Given the description of an element on the screen output the (x, y) to click on. 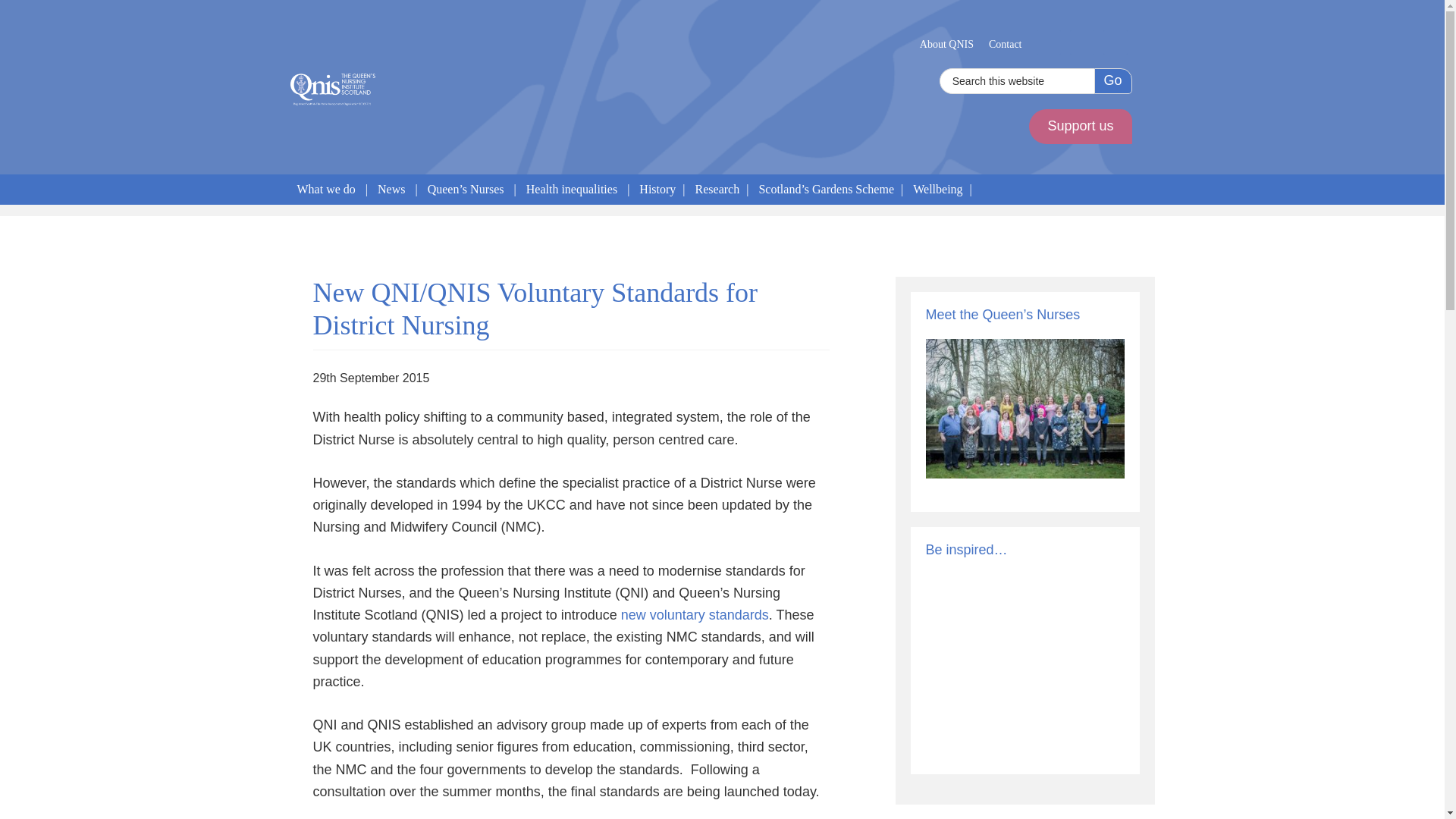
Contact (1004, 44)
YouTube (1114, 42)
Research (717, 189)
The Queen's Nursing Institute Scotland (332, 88)
History (656, 189)
Support us (1080, 125)
News (391, 189)
Wellbeing (937, 189)
What we do (325, 189)
